Given the description of an element on the screen output the (x, y) to click on. 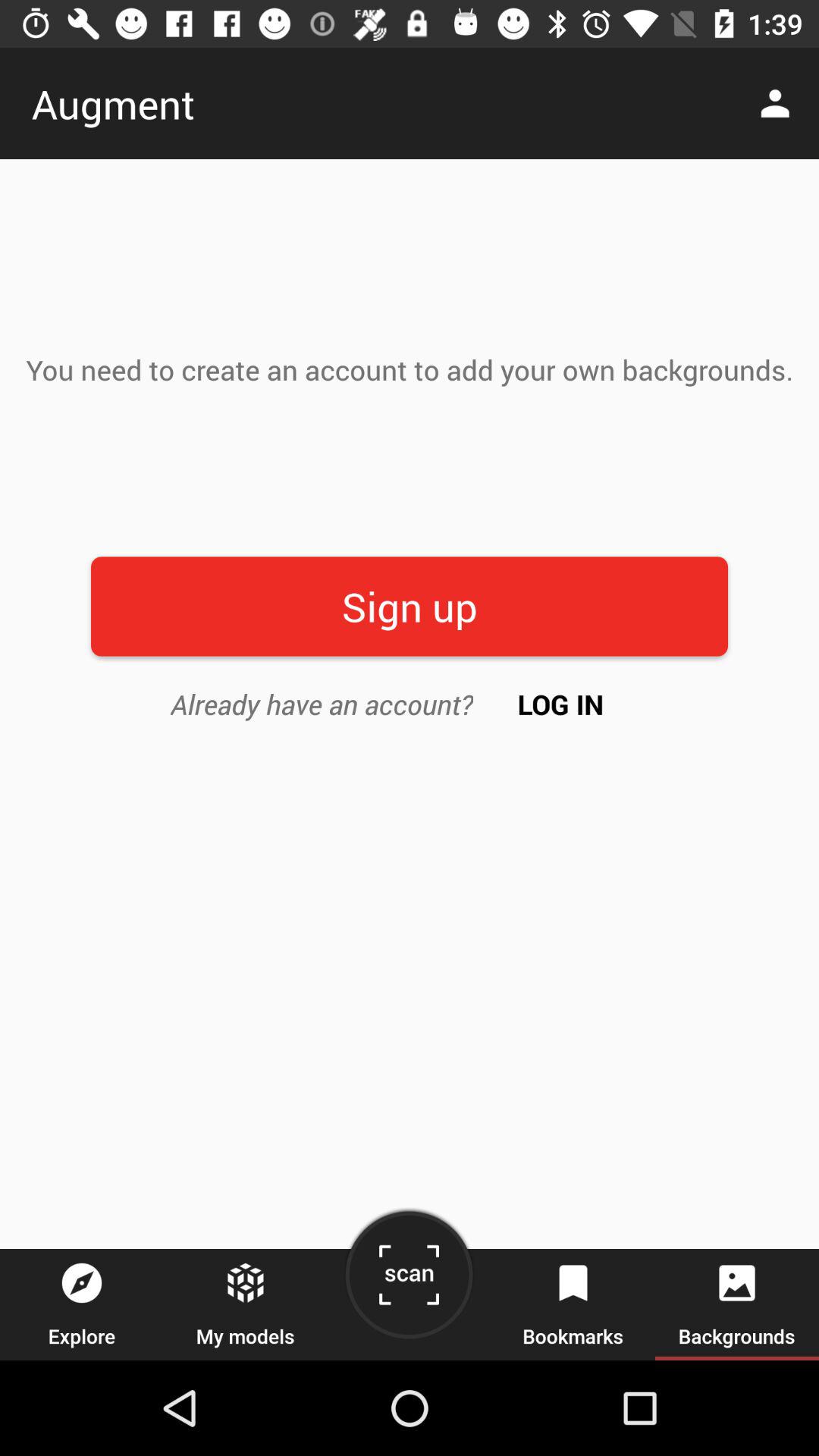
open item below the you need to (409, 606)
